Given the description of an element on the screen output the (x, y) to click on. 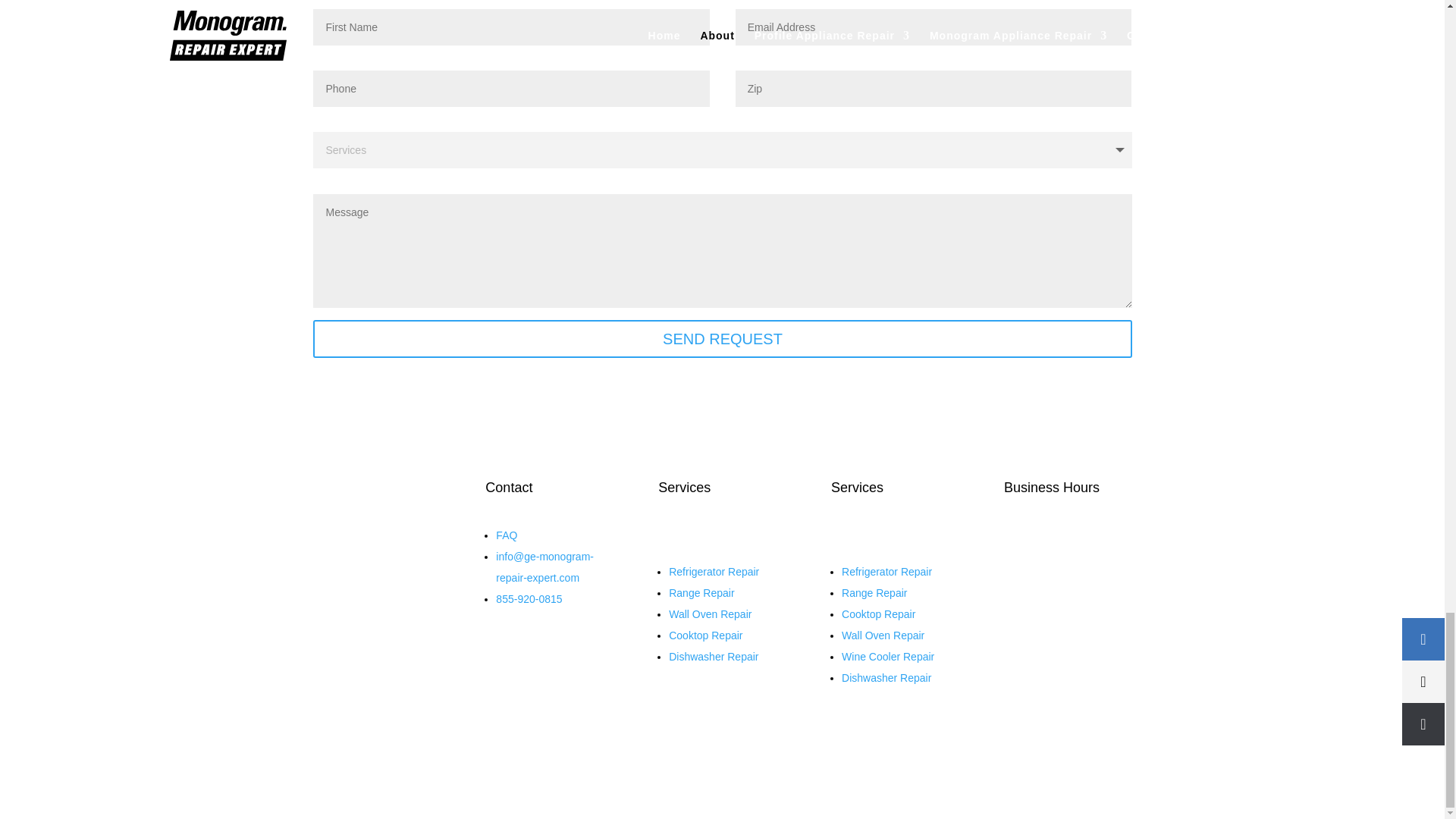
Range Repair (874, 592)
Refrigerator Repair (886, 571)
Refrigerator Repair (713, 571)
FAQ (506, 535)
Wall Oven Repair (882, 635)
Dishwasher Repair (713, 656)
Cooktop Repair (878, 613)
SEND REQUEST (722, 338)
Range Repair (700, 592)
855-920-0815 (529, 598)
Only numbers allowed. (933, 88)
Wine Cooler Repair (887, 656)
Dishwasher Repair (886, 677)
Cooktop Repair (705, 635)
Only numbers allowed. (511, 88)
